Given the description of an element on the screen output the (x, y) to click on. 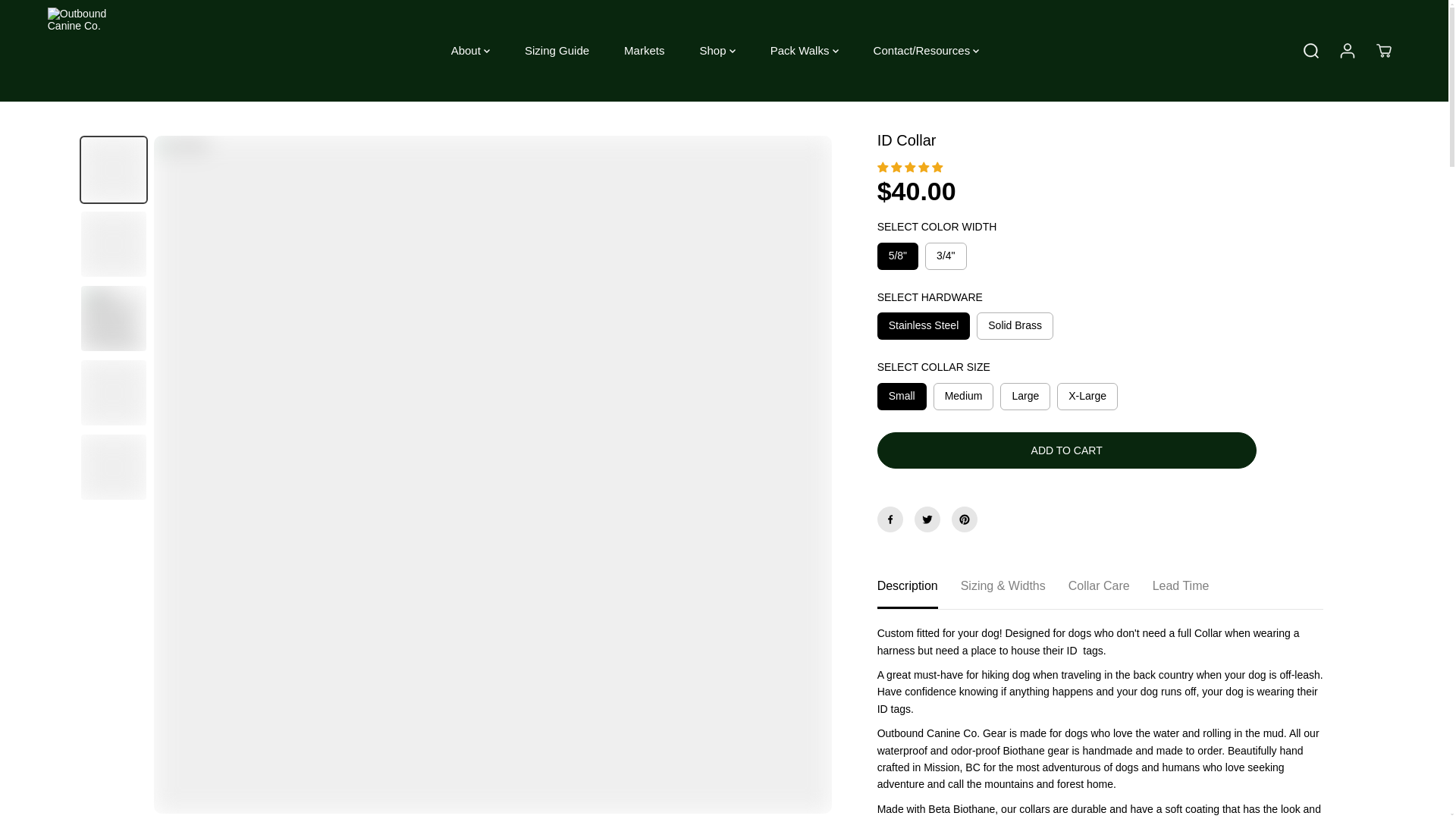
Log in (1347, 50)
Solid Brass (1014, 325)
Small (901, 396)
Pinterest (964, 519)
Cart (1383, 50)
Large (1024, 396)
Twitter (927, 519)
Search (1310, 50)
Medium (963, 396)
SKIP TO CONTENT (60, 18)
